Given the description of an element on the screen output the (x, y) to click on. 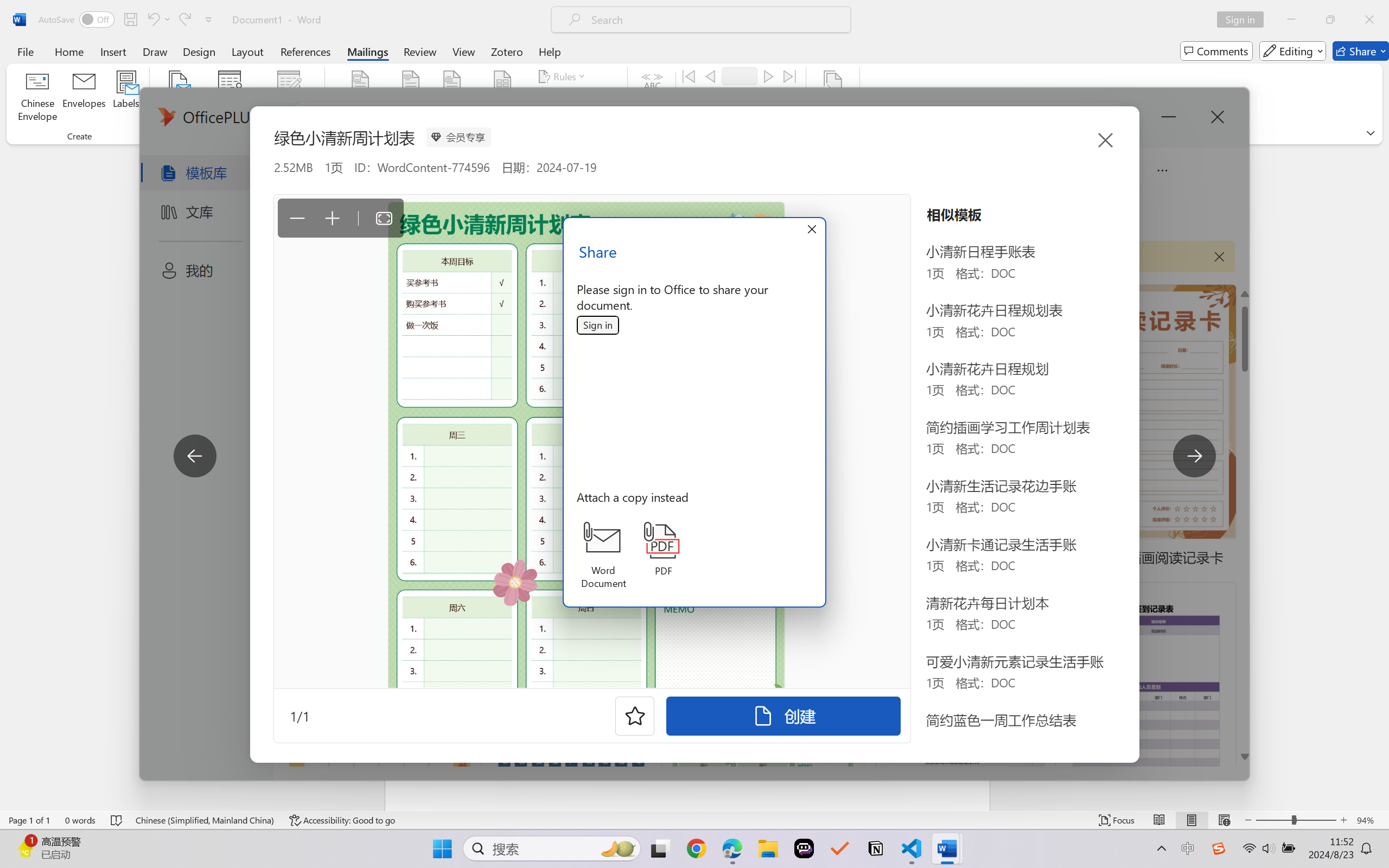
Envelopes... (84, 97)
Edit Recipient List... (288, 97)
Labels... (126, 97)
Find Recipient... (723, 97)
Redo Apply Quick Style (184, 19)
Preview Results (652, 97)
